Given the description of an element on the screen output the (x, y) to click on. 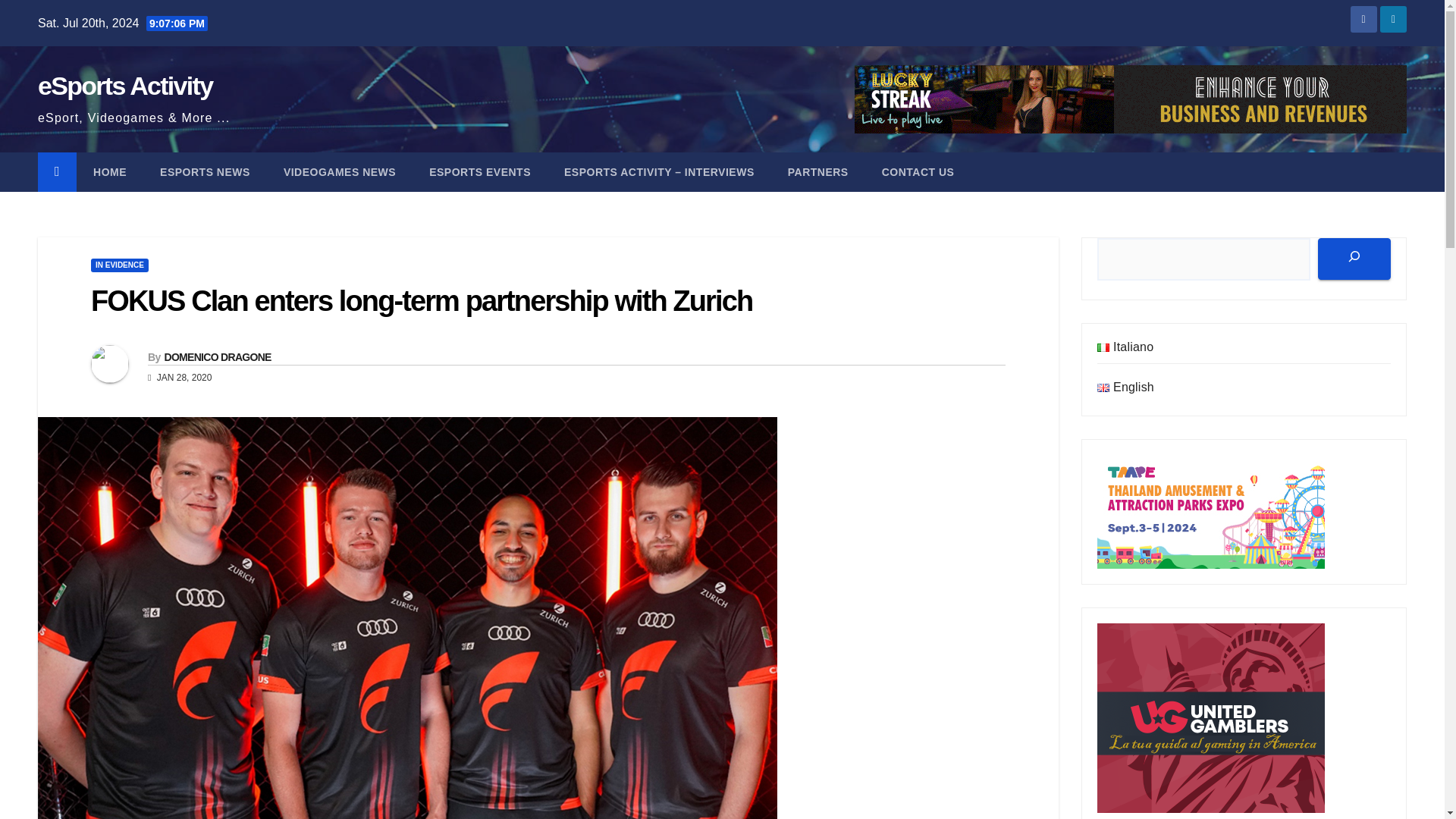
HOME (109, 171)
DOMENICO DRAGONE (216, 357)
VIDEOGAMES NEWS (339, 171)
IN EVIDENCE (119, 264)
eSports News (204, 171)
CONTACT US (917, 171)
FOKUS Clan enters long-term partnership with Zurich (421, 300)
ESPORTS EVENTS (479, 171)
eSports Activity - Interviews (659, 171)
Videogames News (339, 171)
Partners (817, 171)
Contact Us (917, 171)
ESPORTS NEWS (204, 171)
eSports Events (479, 171)
